Given the description of an element on the screen output the (x, y) to click on. 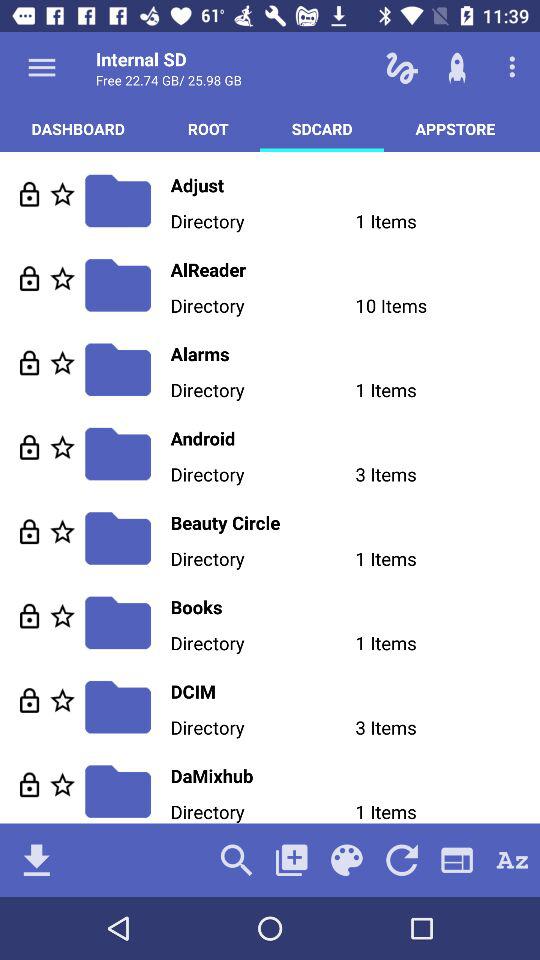
tap the icon next to the appstore (322, 128)
